Given the description of an element on the screen output the (x, y) to click on. 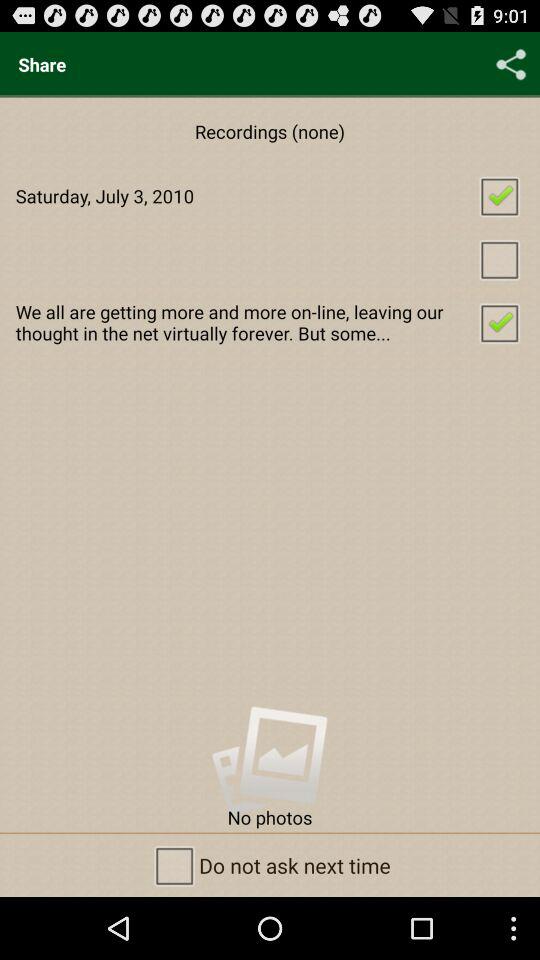
select item at the center (269, 322)
